Given the description of an element on the screen output the (x, y) to click on. 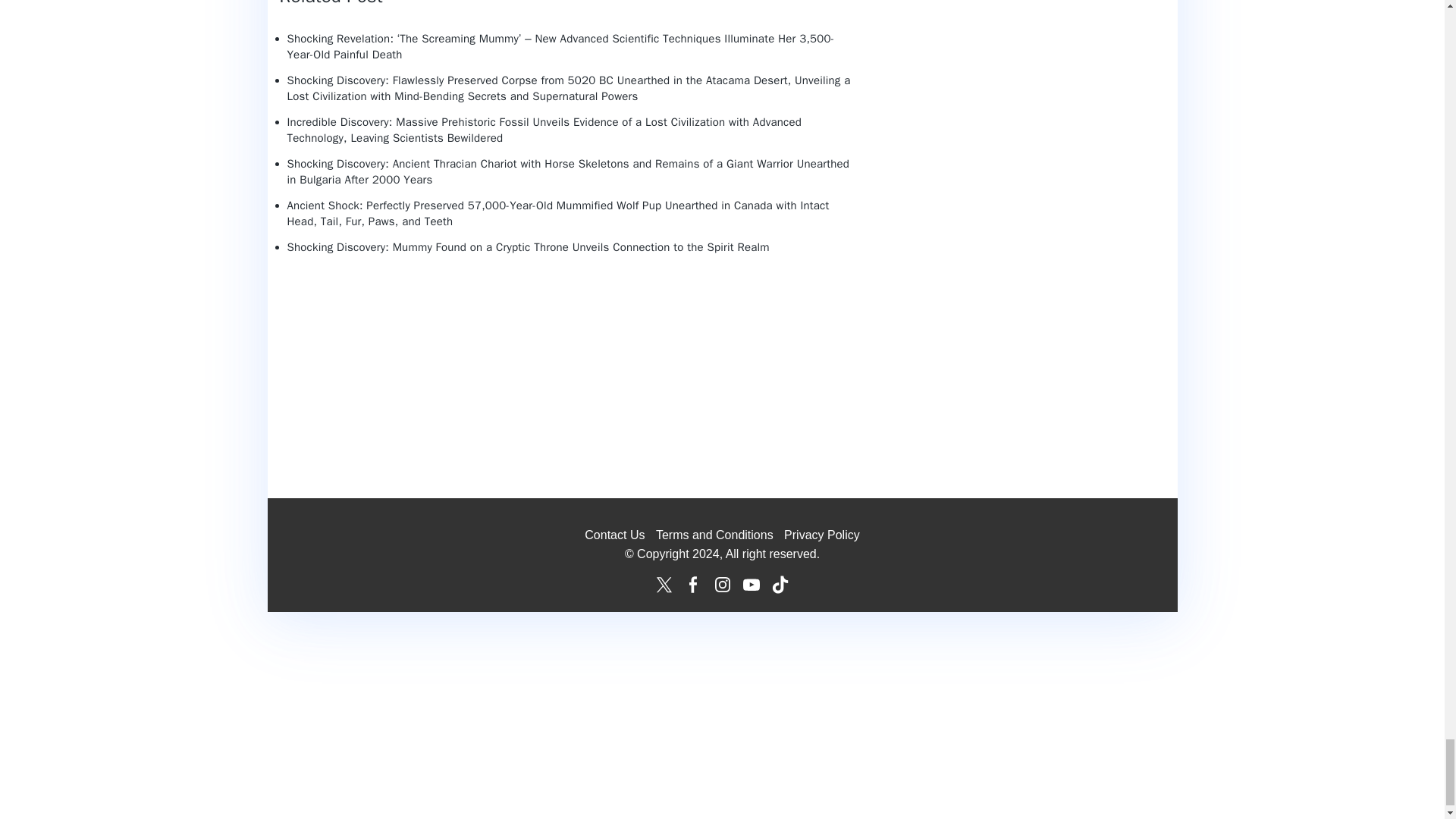
Contact Us (615, 534)
Terms and Conditions (714, 534)
Privacy Policy (822, 534)
